Given the description of an element on the screen output the (x, y) to click on. 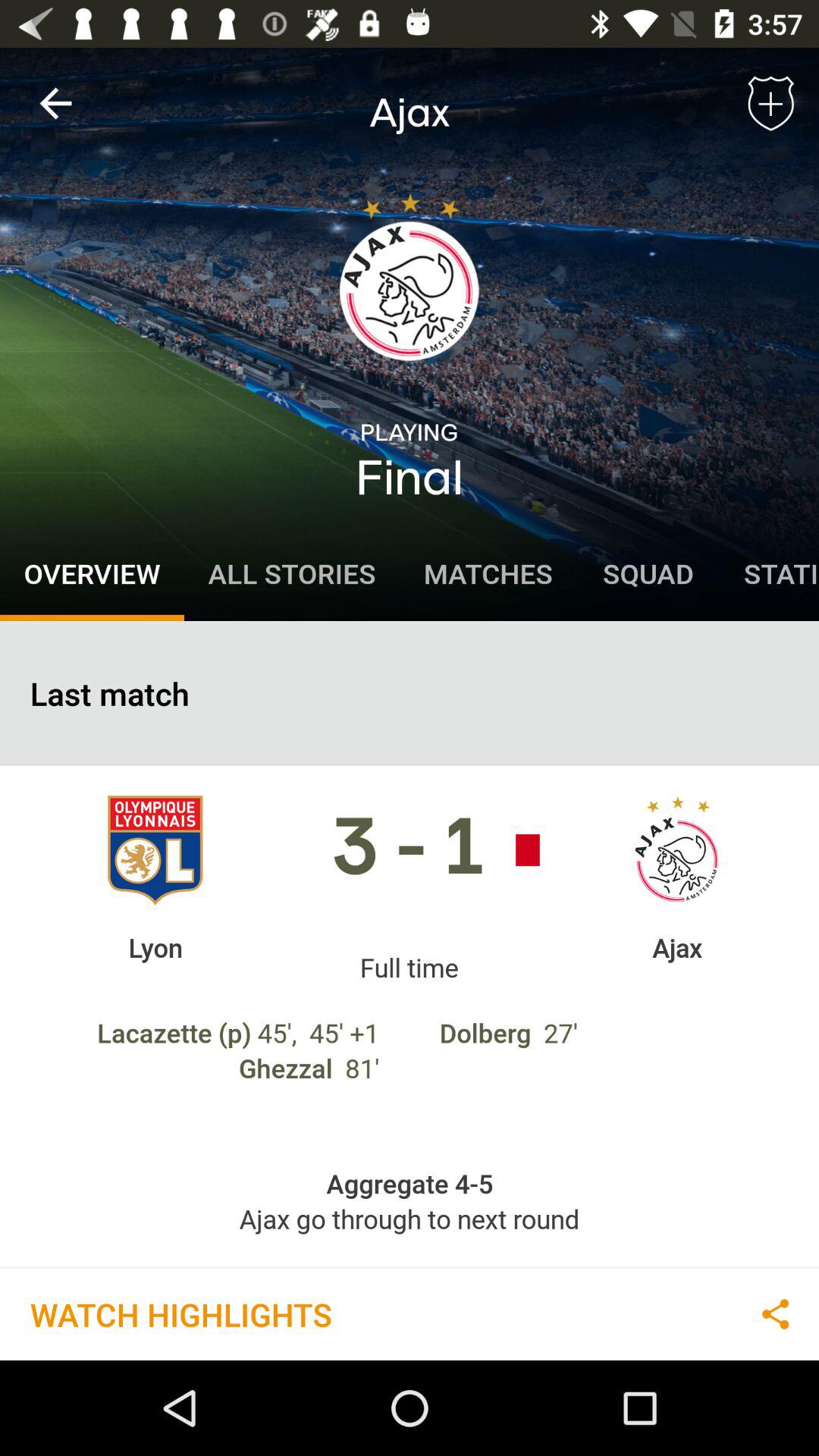
turn off the item at the top right corner (771, 103)
